Given the description of an element on the screen output the (x, y) to click on. 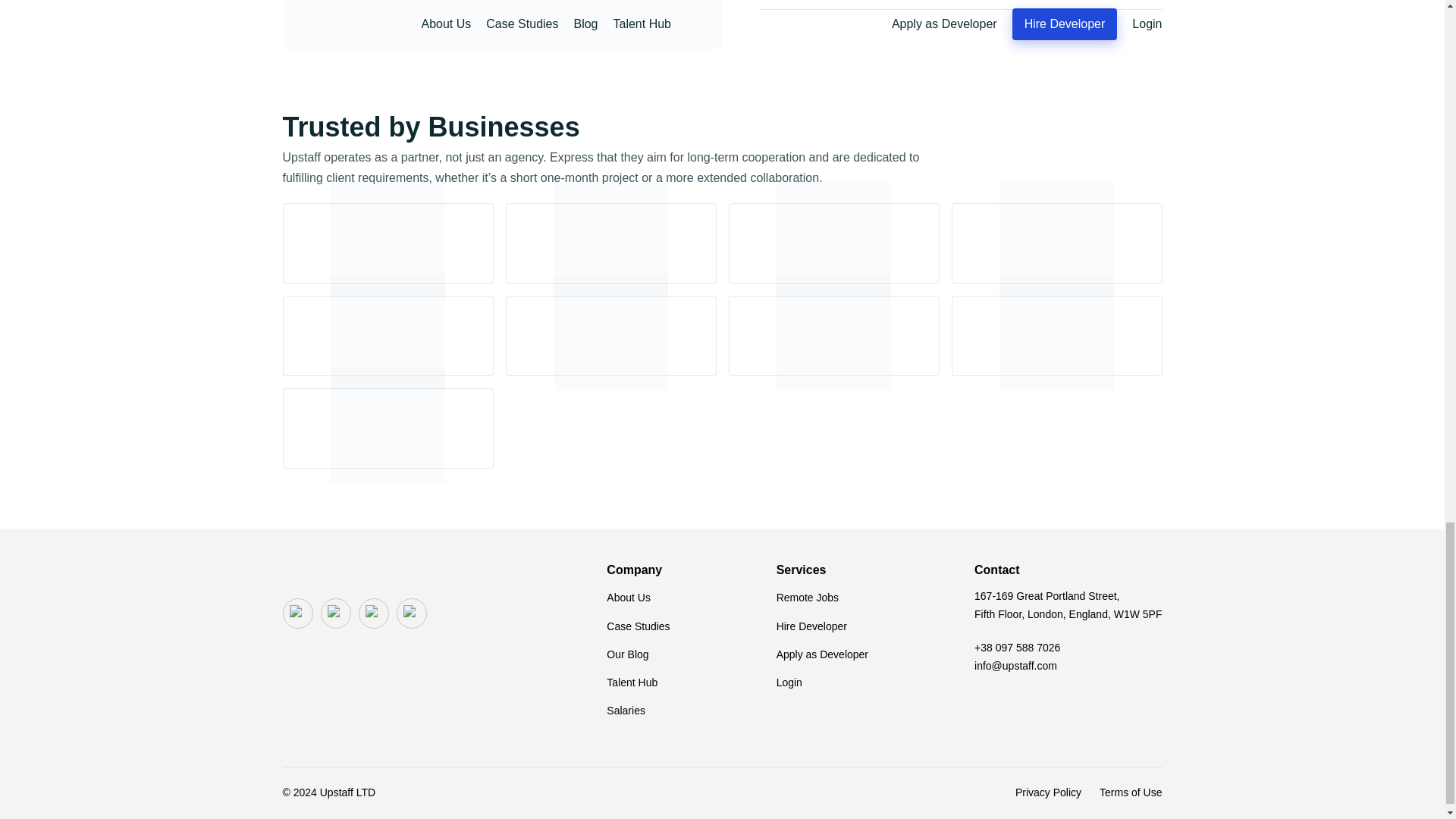
Case Studies (638, 626)
Hire Developer (811, 626)
Salaries (626, 711)
Login (789, 682)
Privacy Policy (1047, 792)
Terms of Use (1130, 792)
Remote Jobs (807, 598)
About Us (628, 598)
Talent Hub (632, 682)
Apply as Developer (821, 654)
